Given the description of an element on the screen output the (x, y) to click on. 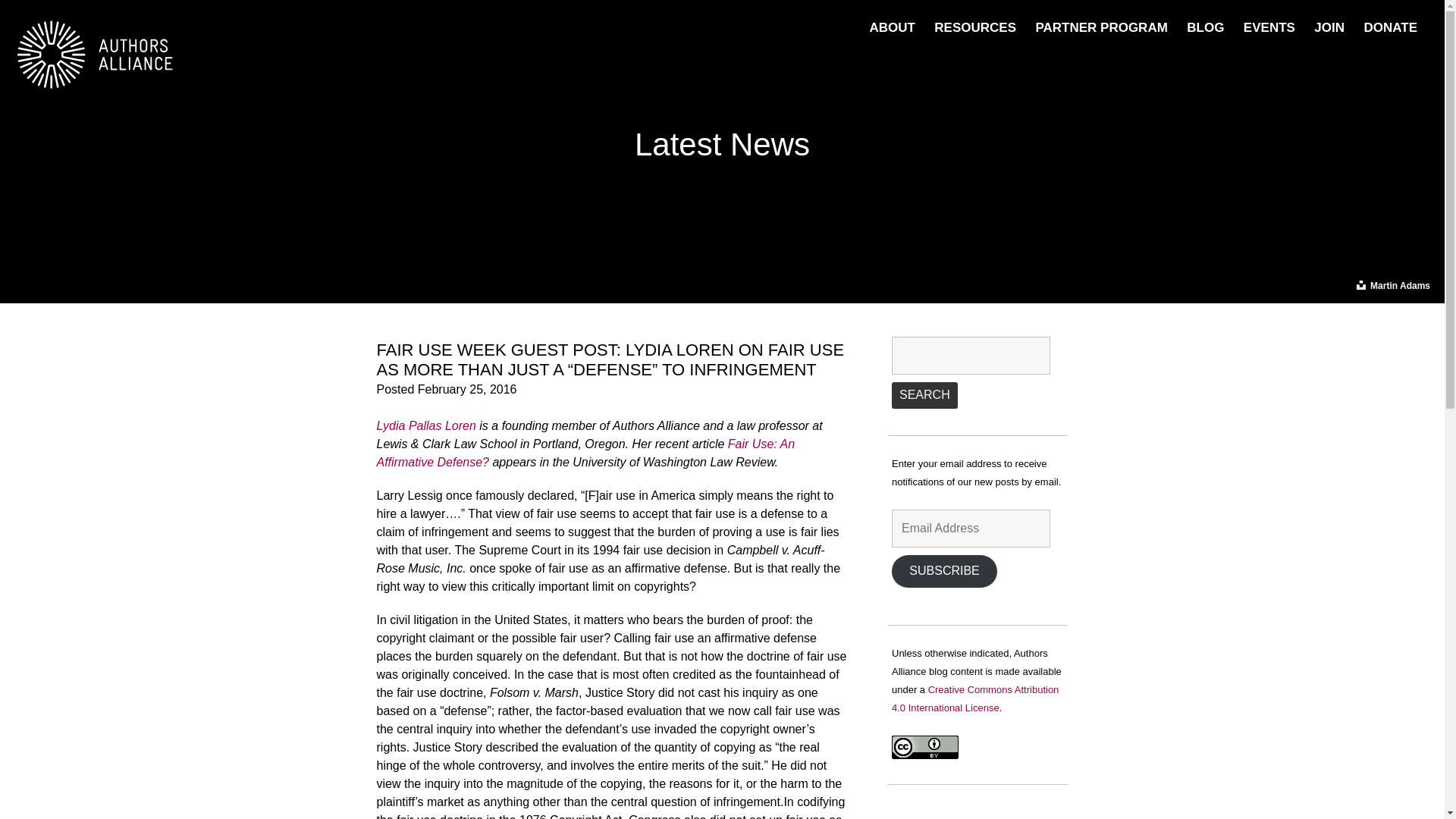
unsplash-logo Martin Adams (1391, 285)
Search (924, 395)
Fair Use: An Affirmative Defense? (584, 452)
COPYRIGHT FUNDAMENTALS (1010, 46)
unsplash-logo (1360, 284)
SUBSCRIBE (944, 571)
Lydia Pallas Loren (425, 425)
Creative Commons Attribution 4.0 International License (974, 698)
